Given the description of an element on the screen output the (x, y) to click on. 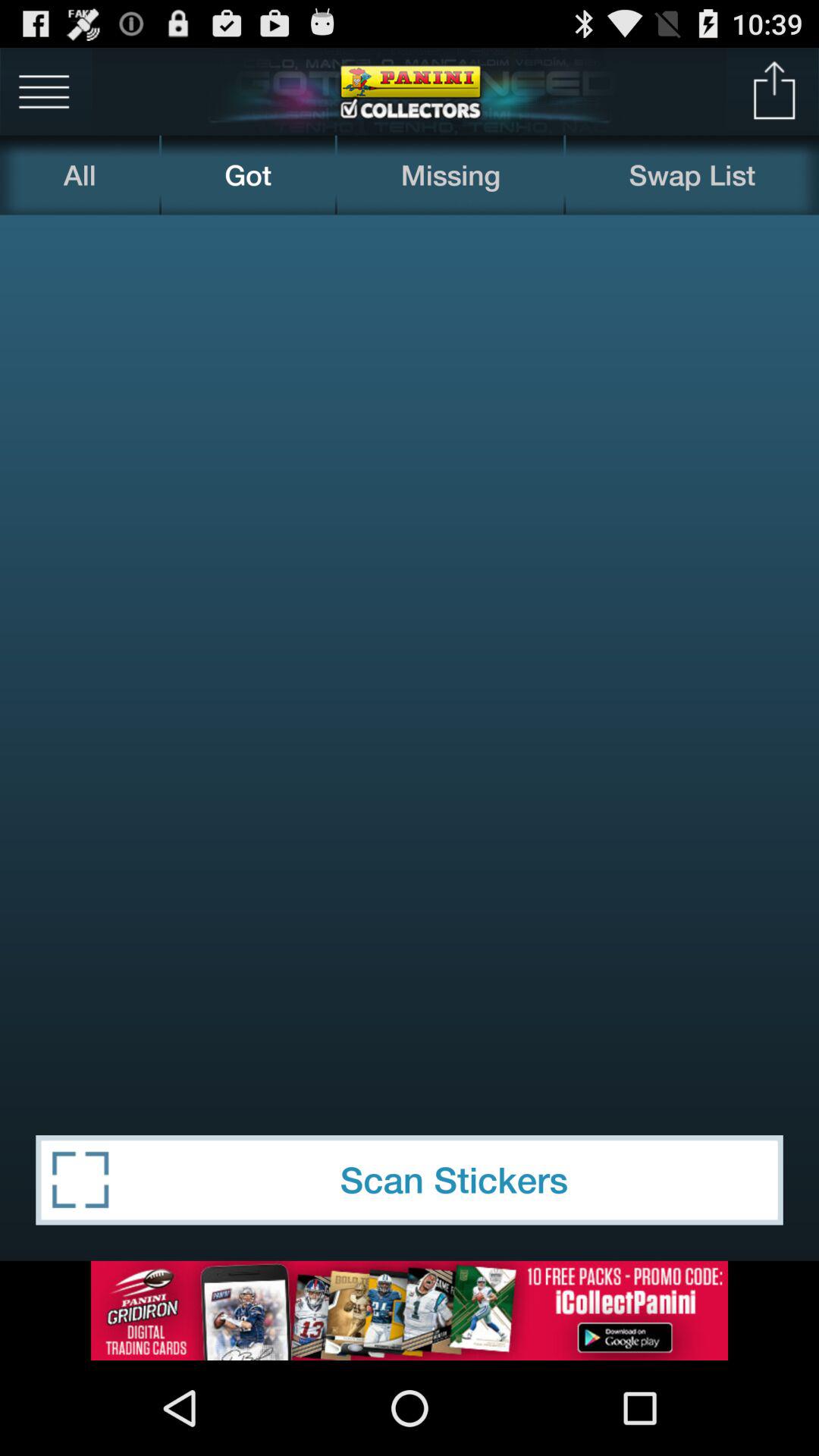
swipe until all (79, 174)
